Given the description of an element on the screen output the (x, y) to click on. 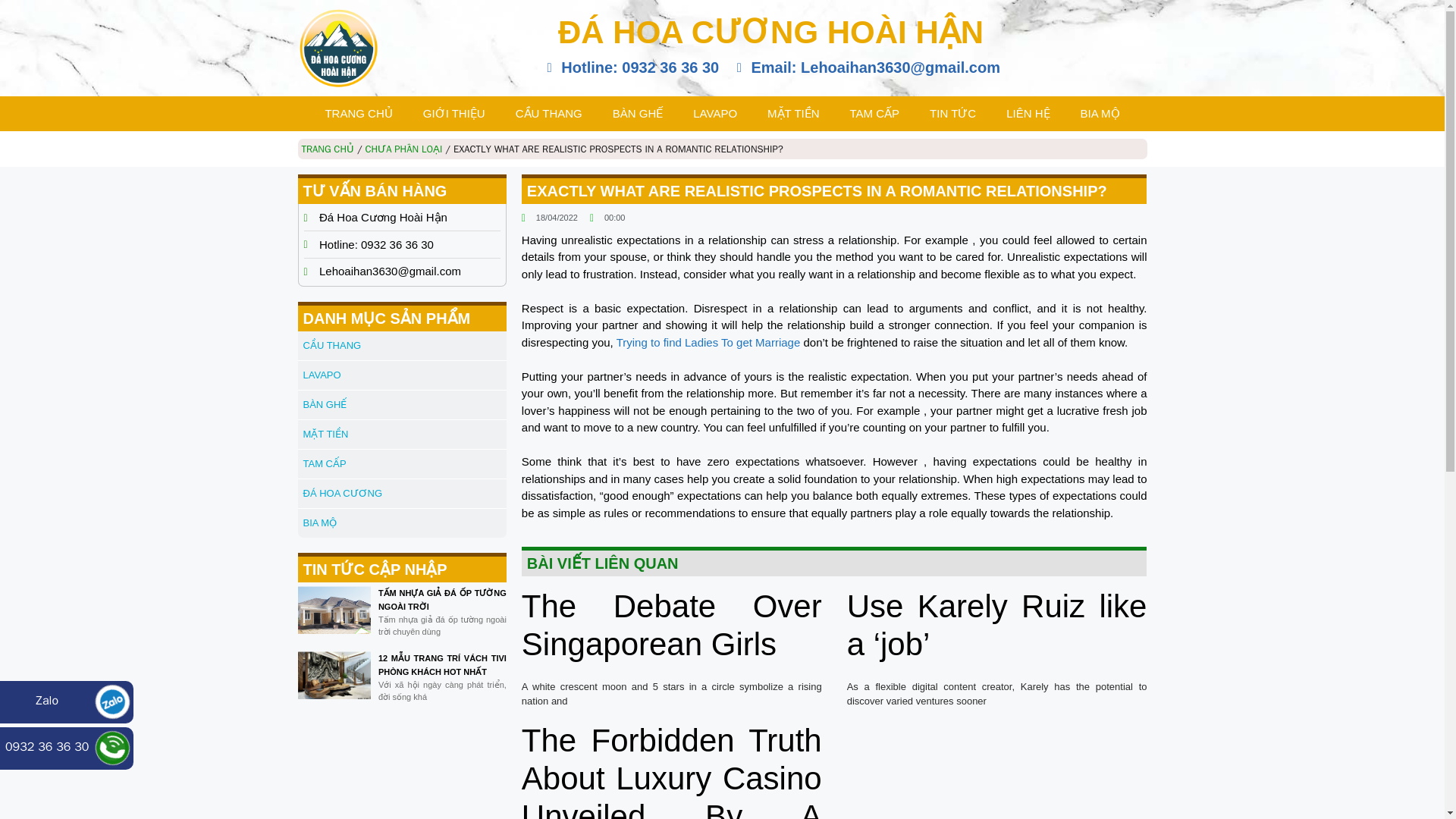
LAVAPO (715, 113)
Hotline: 0932 36 36 30 (630, 67)
